Given the description of an element on the screen output the (x, y) to click on. 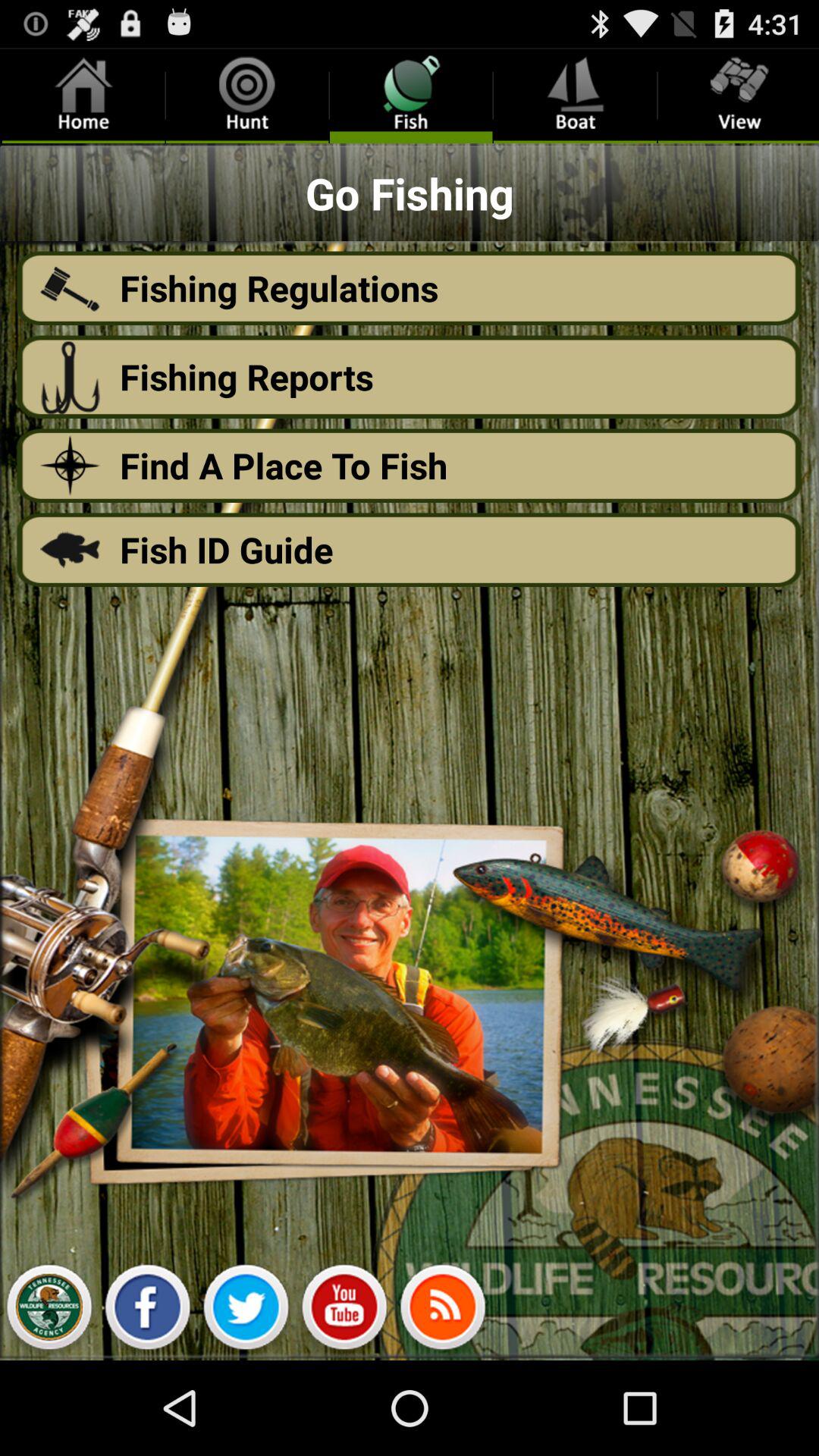
choose the option (49, 1311)
